Given the description of an element on the screen output the (x, y) to click on. 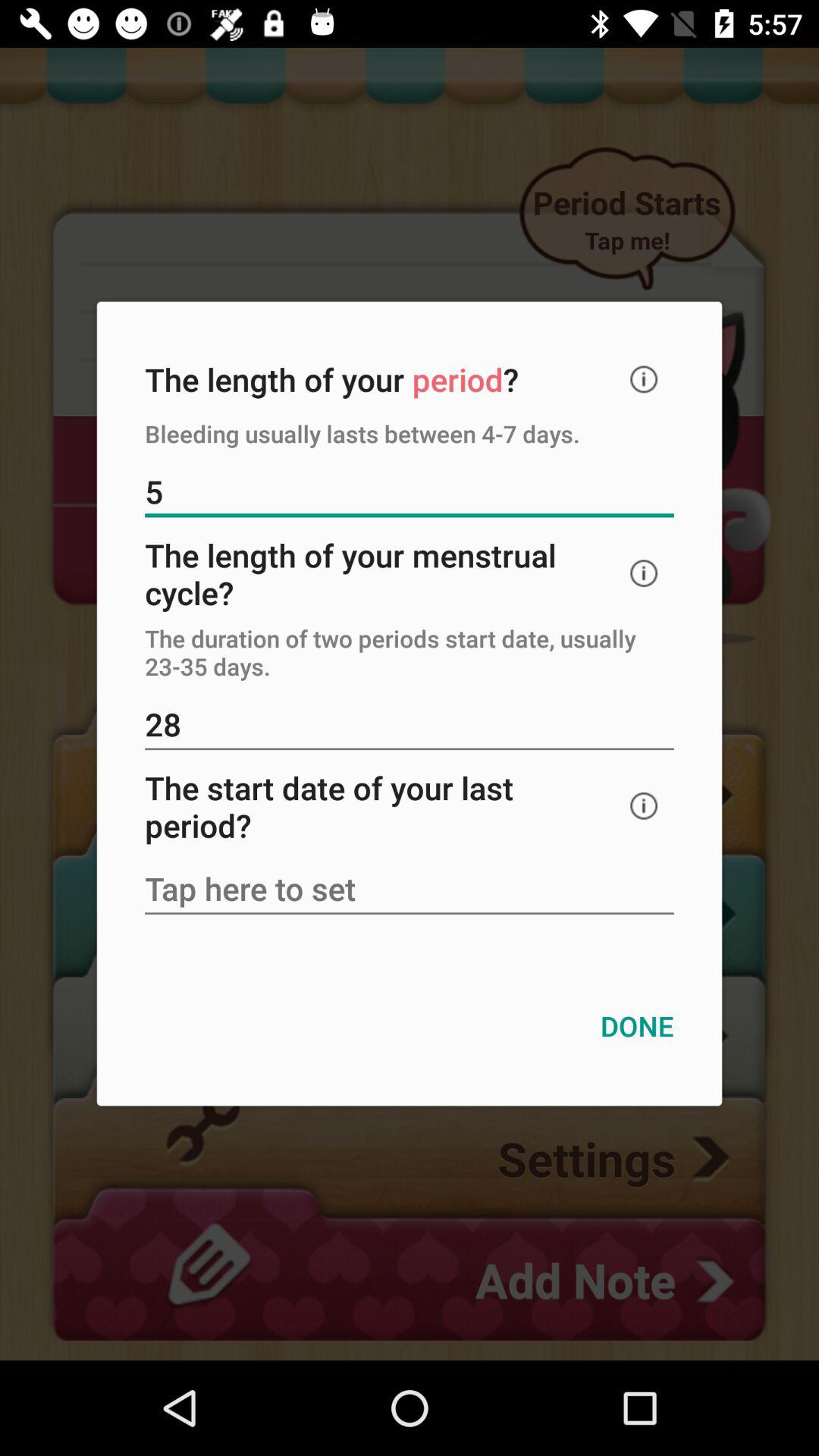
get info about prompt (643, 379)
